Given the description of an element on the screen output the (x, y) to click on. 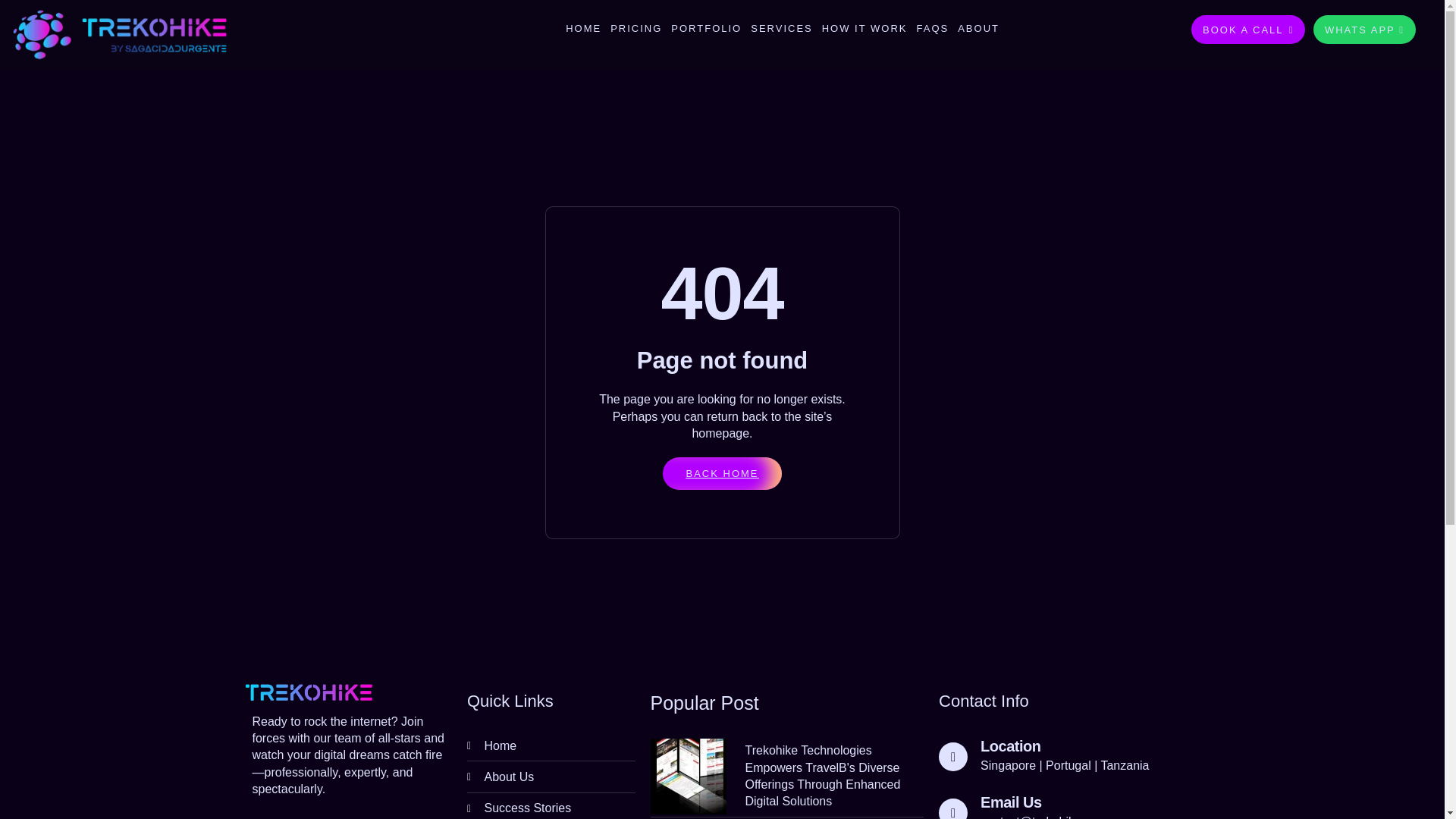
Home (550, 745)
ABOUT (978, 28)
BOOK A CALL (1247, 29)
FAQS (932, 28)
SERVICES (780, 28)
HOME (582, 28)
BACK HOME (721, 477)
HOW IT WORK (864, 28)
PRICING (635, 28)
PORTFOLIO (705, 28)
Success Stories (550, 808)
WHATS APP (1364, 29)
About Us (550, 776)
